Given the description of an element on the screen output the (x, y) to click on. 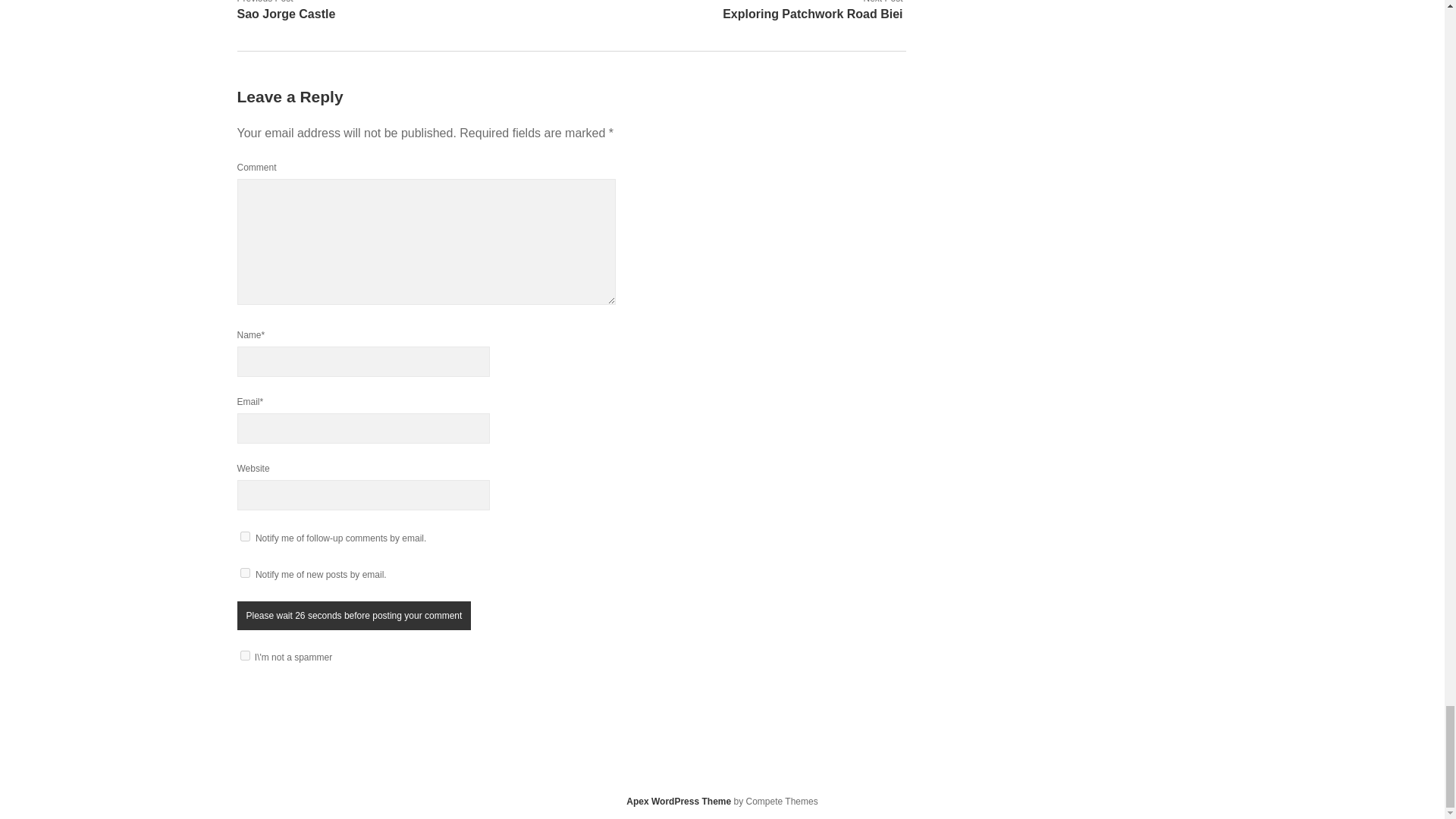
Y (244, 655)
subscribe (244, 536)
subscribe (244, 573)
Please wait 26 seconds before posting your comment (352, 615)
